Given the description of an element on the screen output the (x, y) to click on. 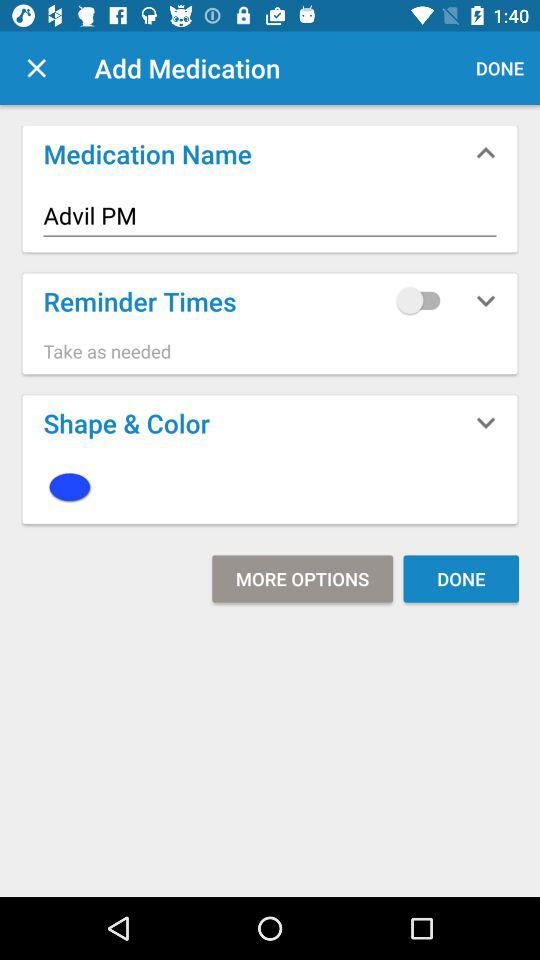
turn off the   item (269, 486)
